Given the description of an element on the screen output the (x, y) to click on. 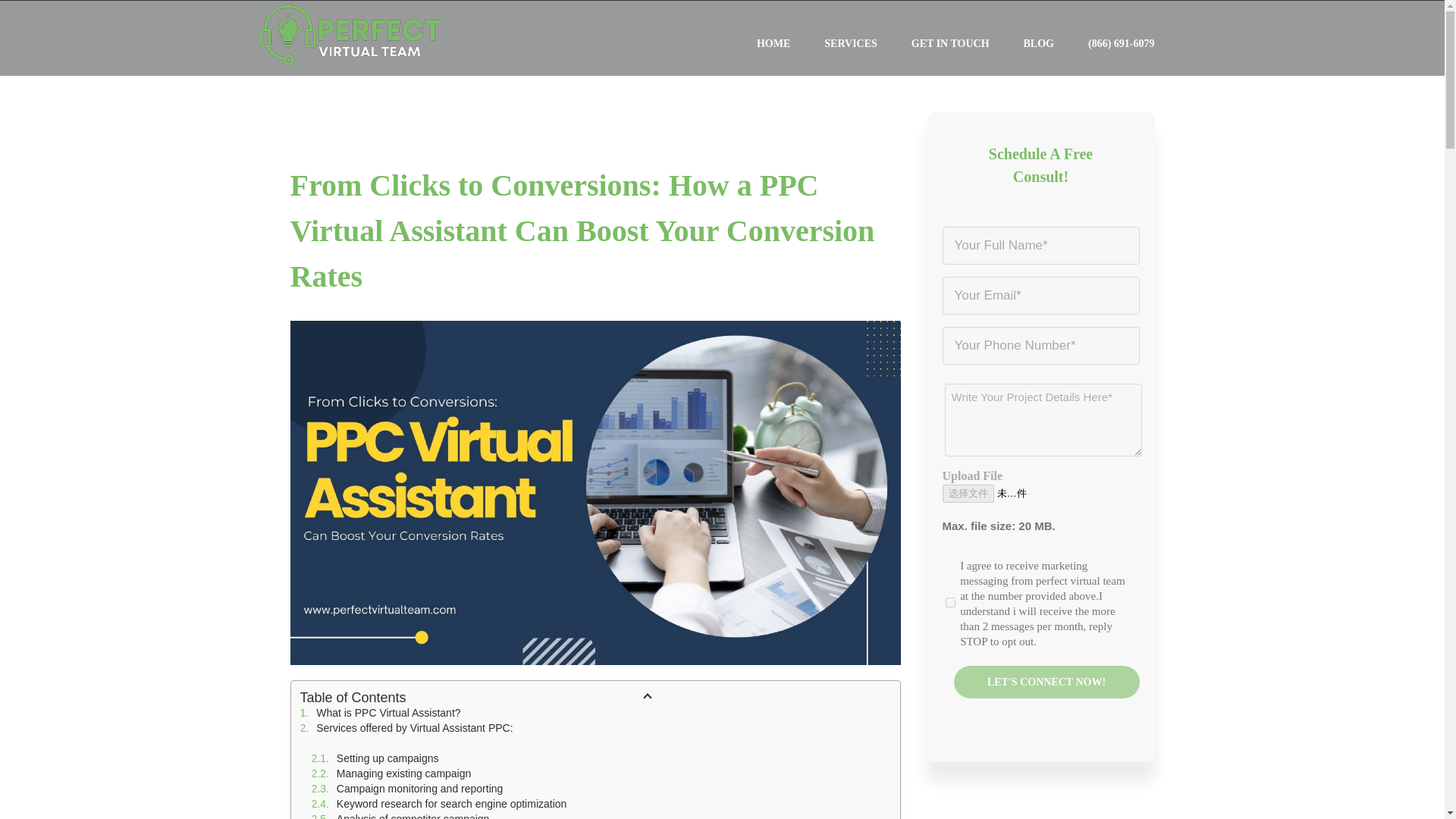
GET IN TOUCH (950, 43)
Campaign monitoring and reporting (601, 788)
Managing existing campaign (601, 773)
What is PPC Virtual Assistant? (595, 712)
Keyword research for search engine optimization (601, 803)
Let's Connect Now! (1046, 681)
Setting up campaigns (601, 758)
Services offered by Virtual Assistant PPC: (595, 727)
